Given the description of an element on the screen output the (x, y) to click on. 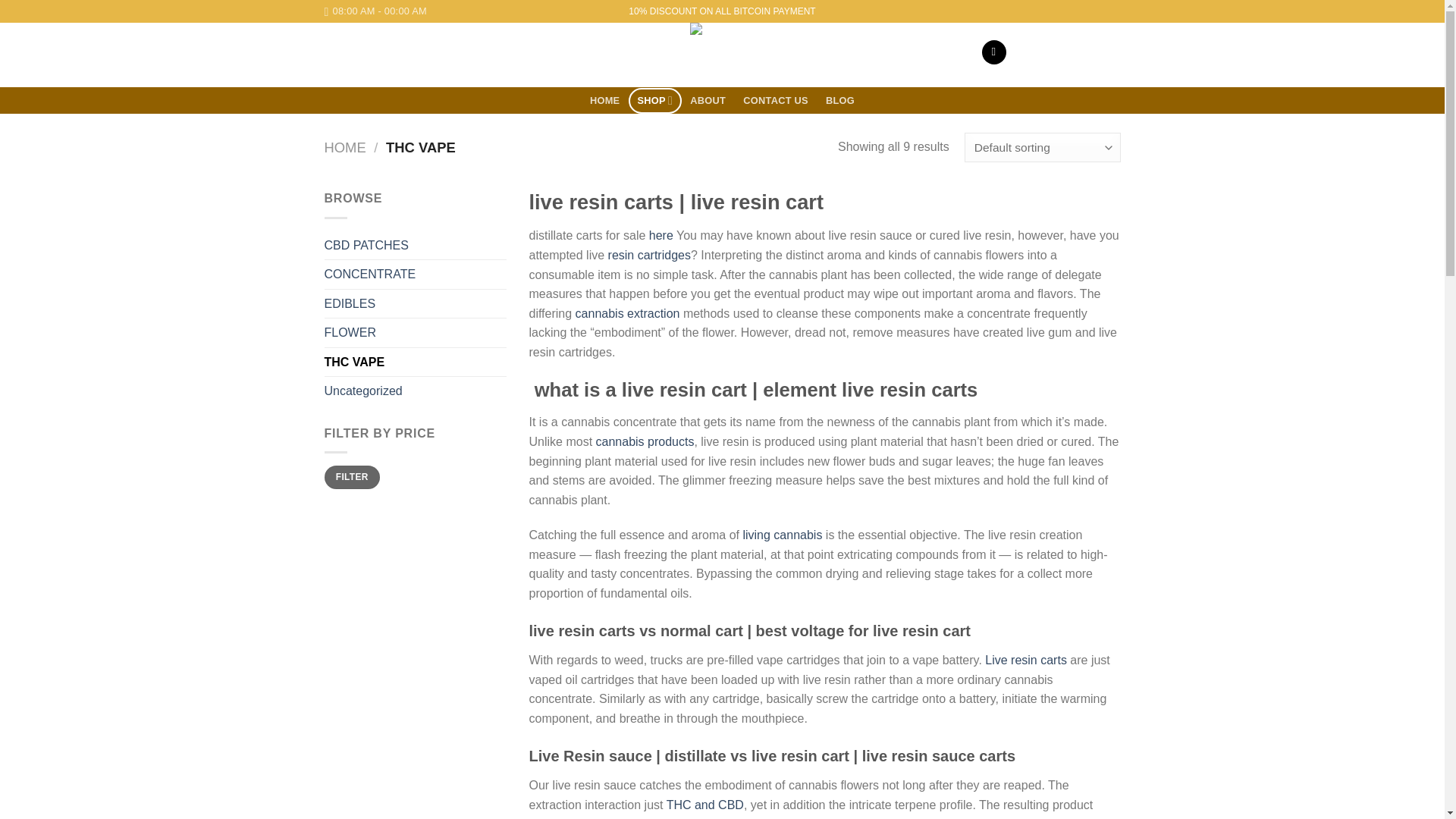
HOME (604, 100)
cannabis products (644, 440)
EDIBLES (415, 303)
08:00 AM - 00:00 AM (375, 11)
CONTACT US (775, 100)
BLOG (839, 100)
08:00 am - 00:00 am  (375, 11)
living cannabis (782, 534)
ABOUT (708, 100)
THC and CBD (705, 804)
